Given the description of an element on the screen output the (x, y) to click on. 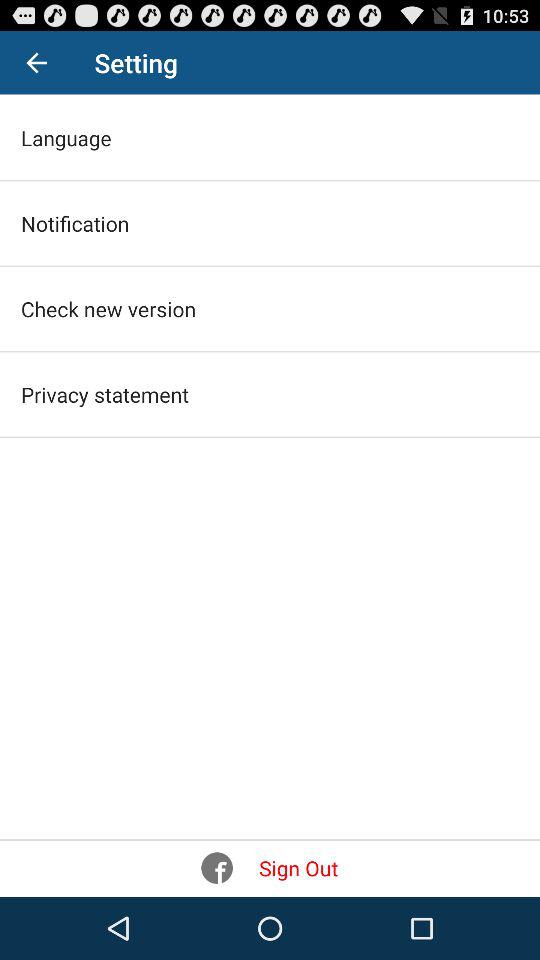
turn on icon above check new version item (75, 223)
